Given the description of an element on the screen output the (x, y) to click on. 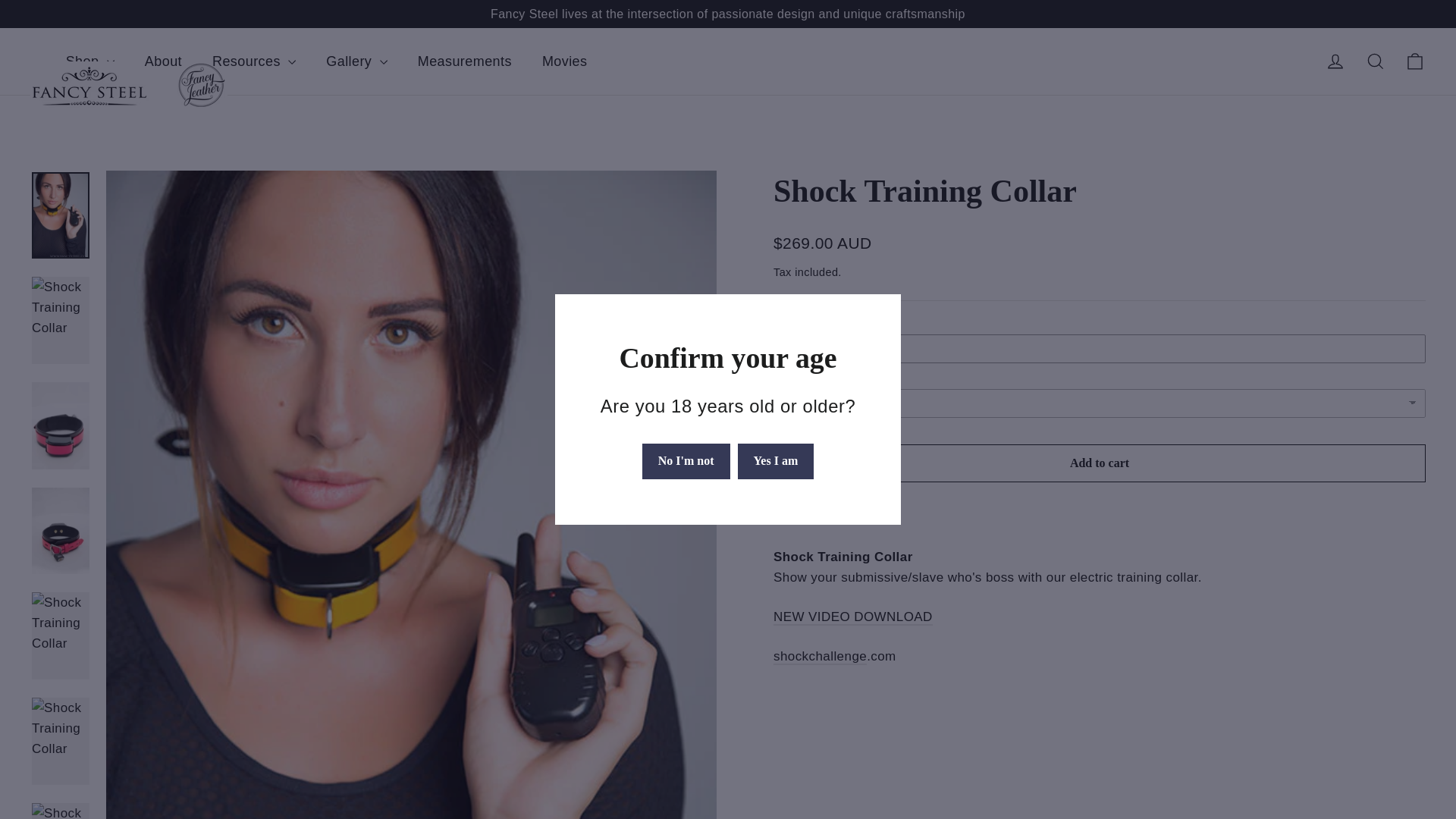
account (1334, 61)
icon-search (1375, 61)
icon-bag-minimal (1415, 61)
